Given the description of an element on the screen output the (x, y) to click on. 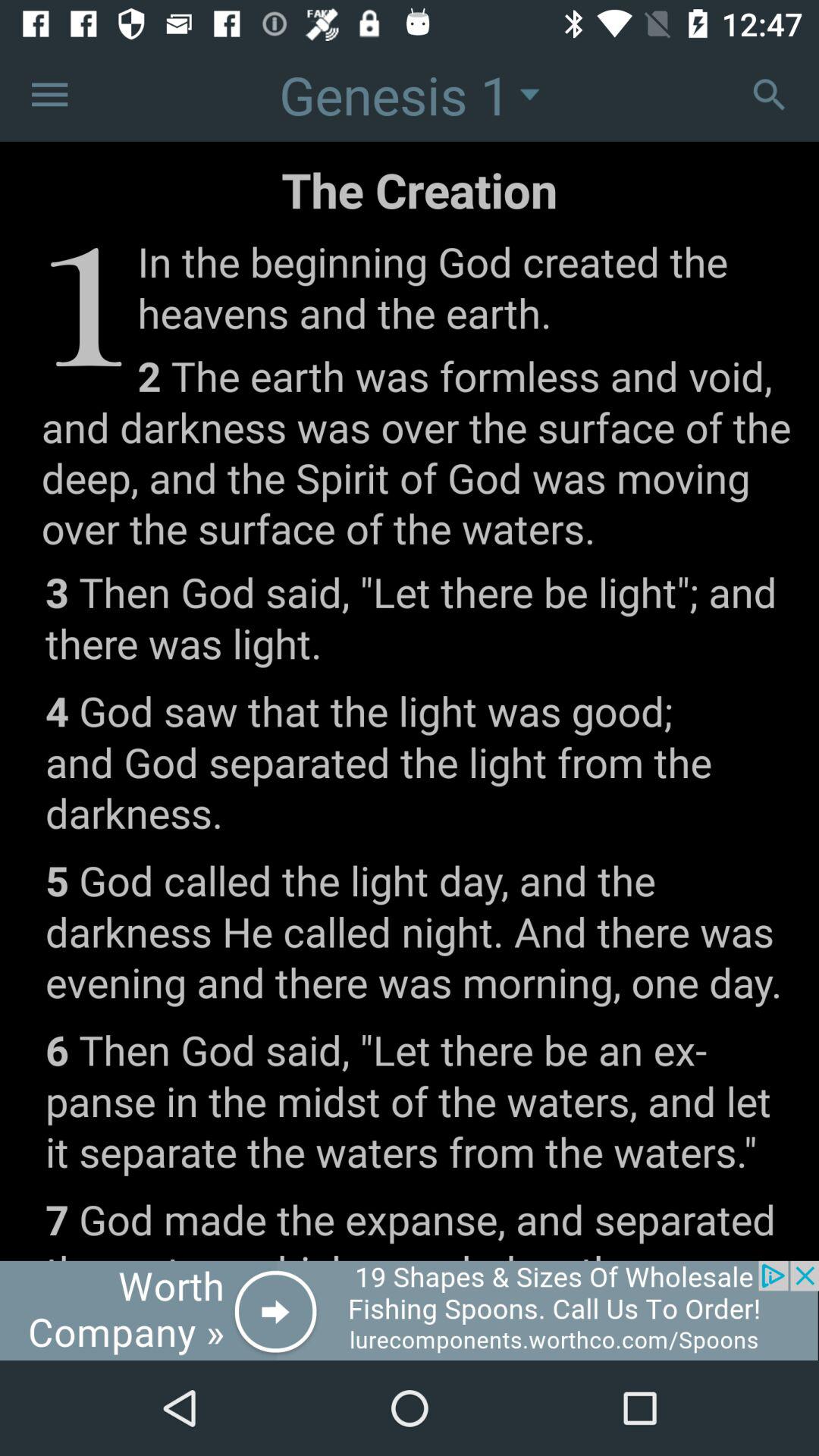
search (769, 94)
